Given the description of an element on the screen output the (x, y) to click on. 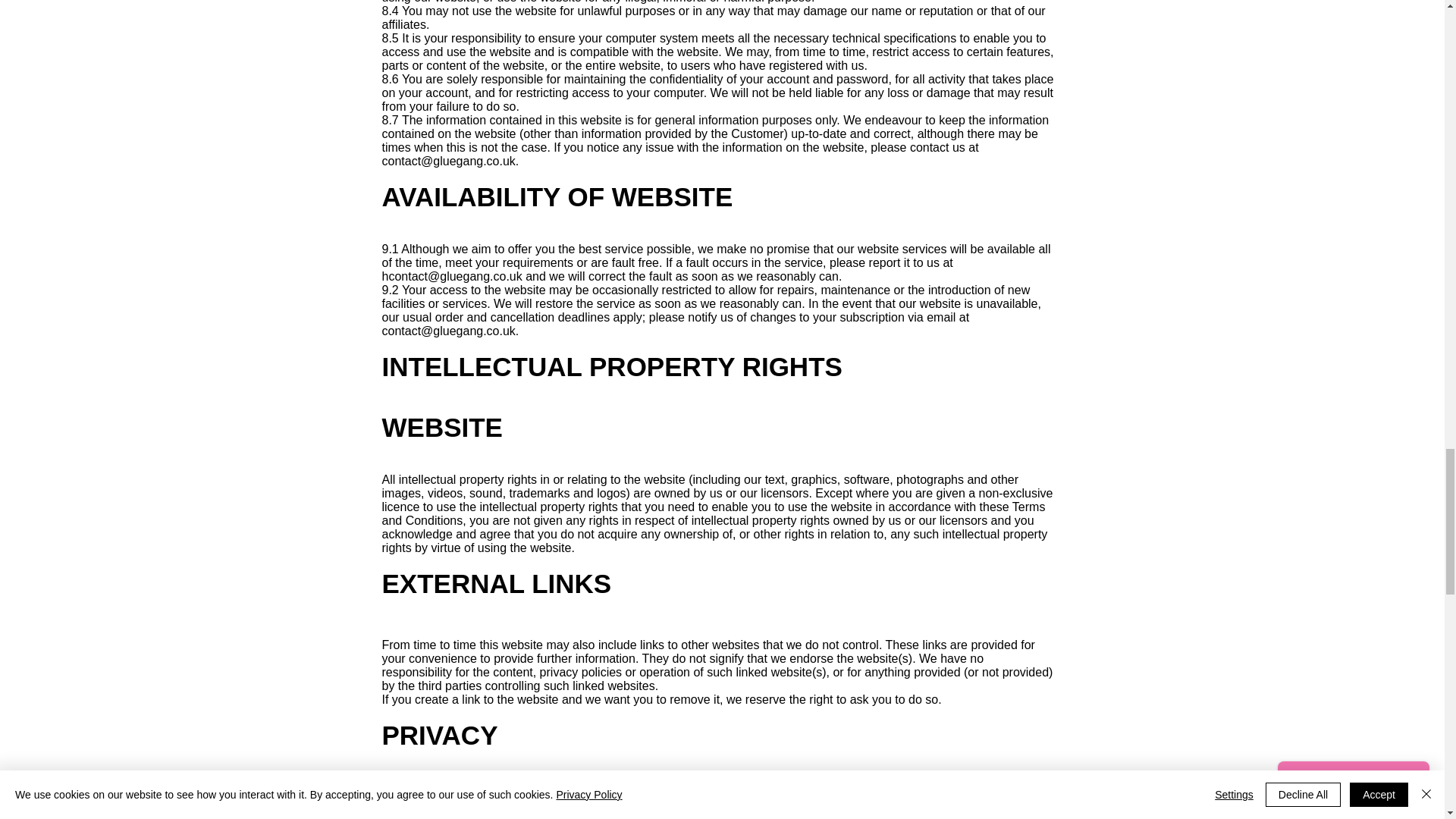
Privacy Policy (564, 800)
